Given the description of an element on the screen output the (x, y) to click on. 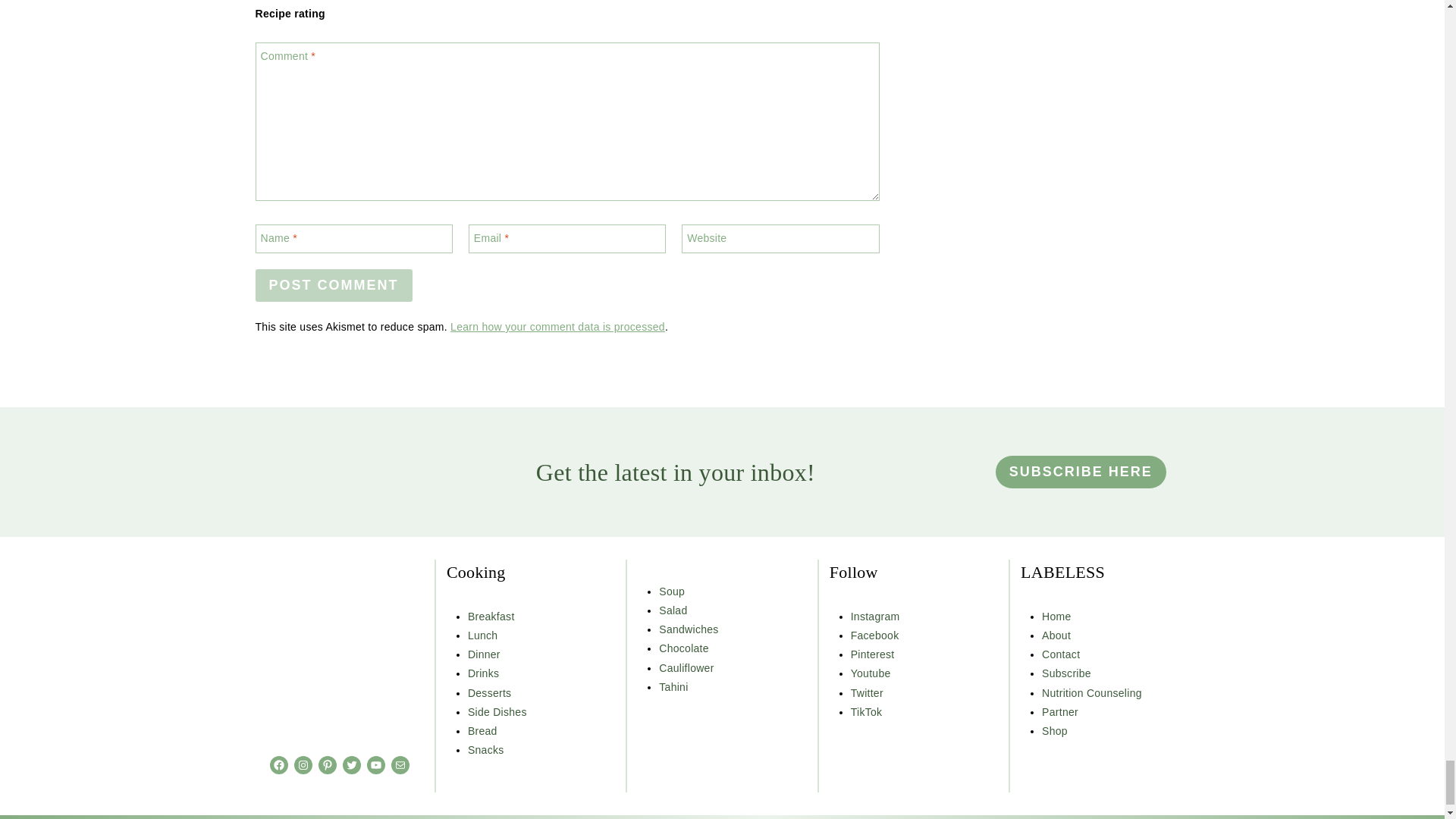
Post Comment (333, 285)
